Given the description of an element on the screen output the (x, y) to click on. 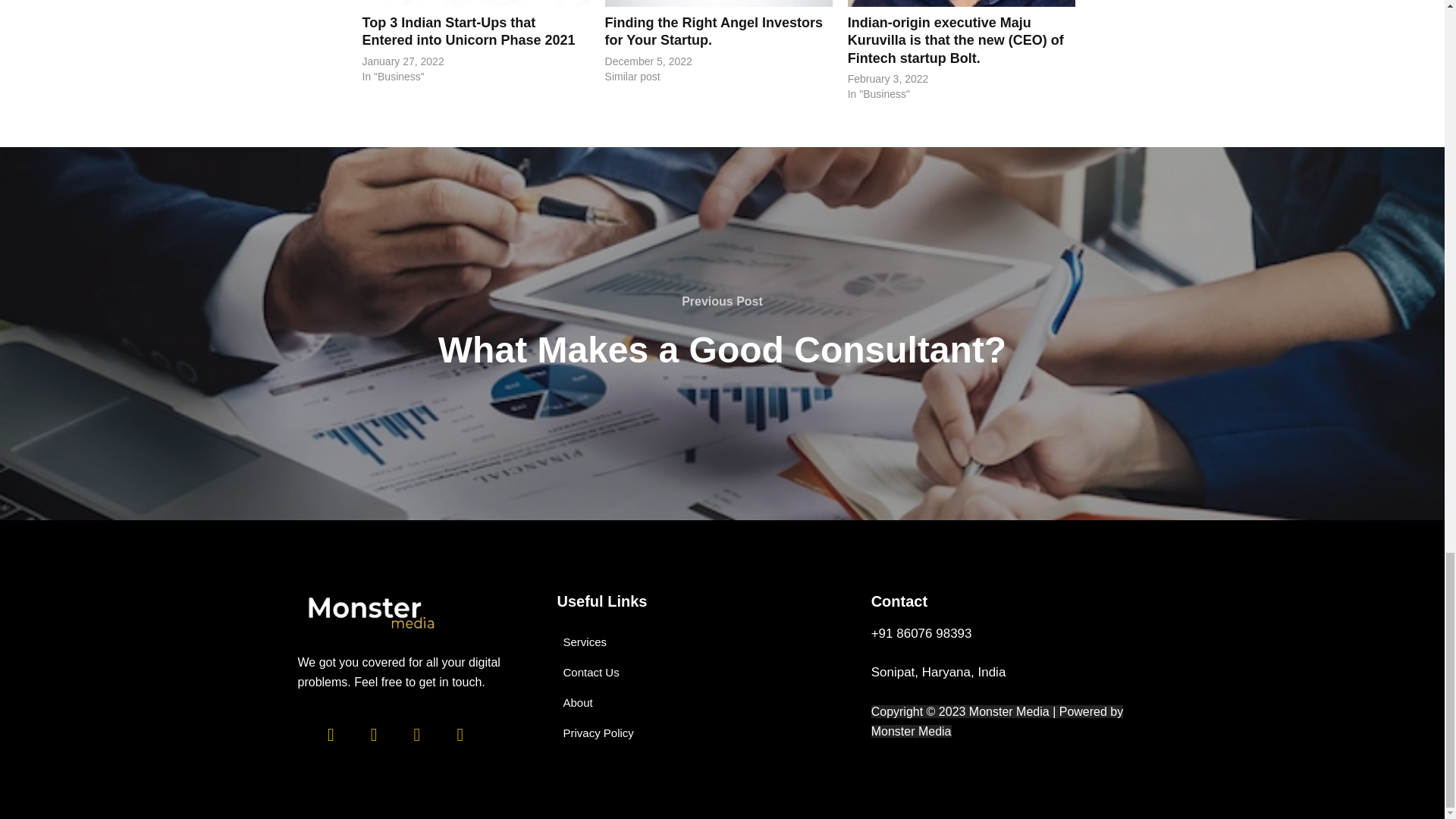
Top 3 Indian Start-Ups that Entered into Unicorn Phase 2021 (468, 31)
Top 3 Indian Start-Ups that Entered into Unicorn Phase 2021 (475, 2)
Finding the Right Angel Investors for Your Startup. (713, 31)
Finding the Right Angel Investors for Your Startup. (718, 2)
